Given the description of an element on the screen output the (x, y) to click on. 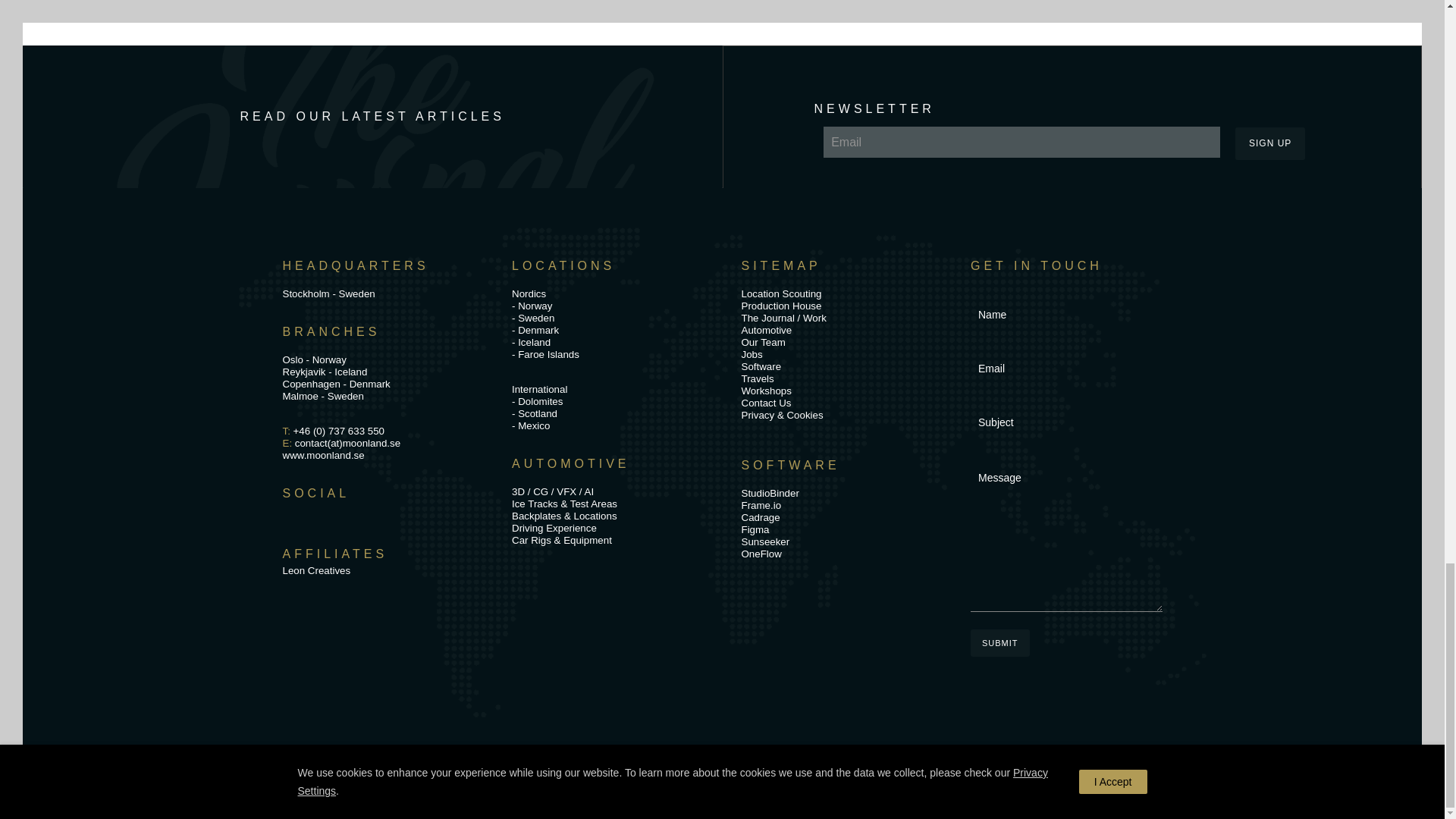
Submit (1000, 642)
Sign up (1269, 143)
